Given the description of an element on the screen output the (x, y) to click on. 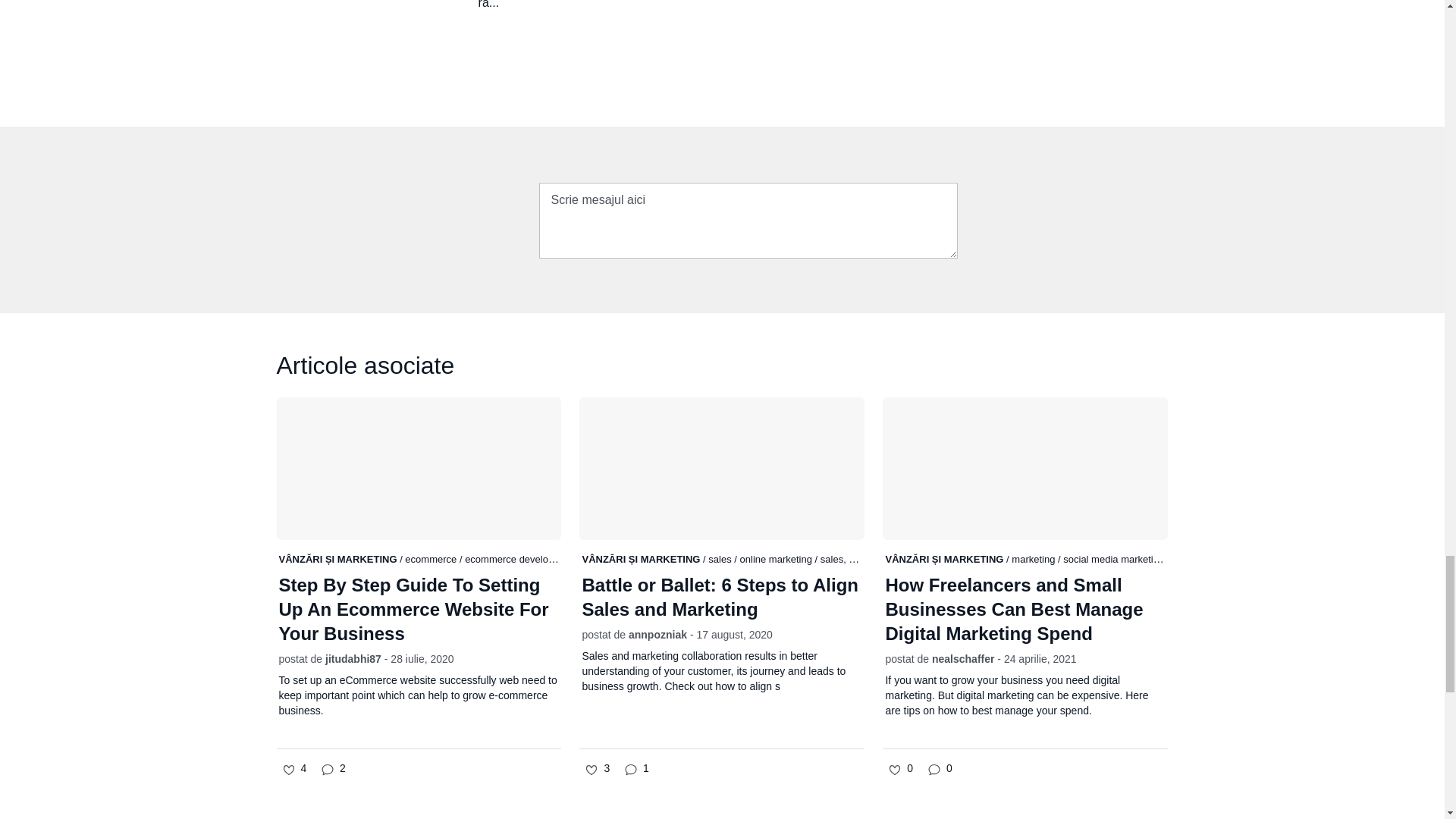
4 (294, 768)
ecommerce development (521, 558)
jitudabhi87 (352, 658)
ecommerce (432, 559)
